Given the description of an element on the screen output the (x, y) to click on. 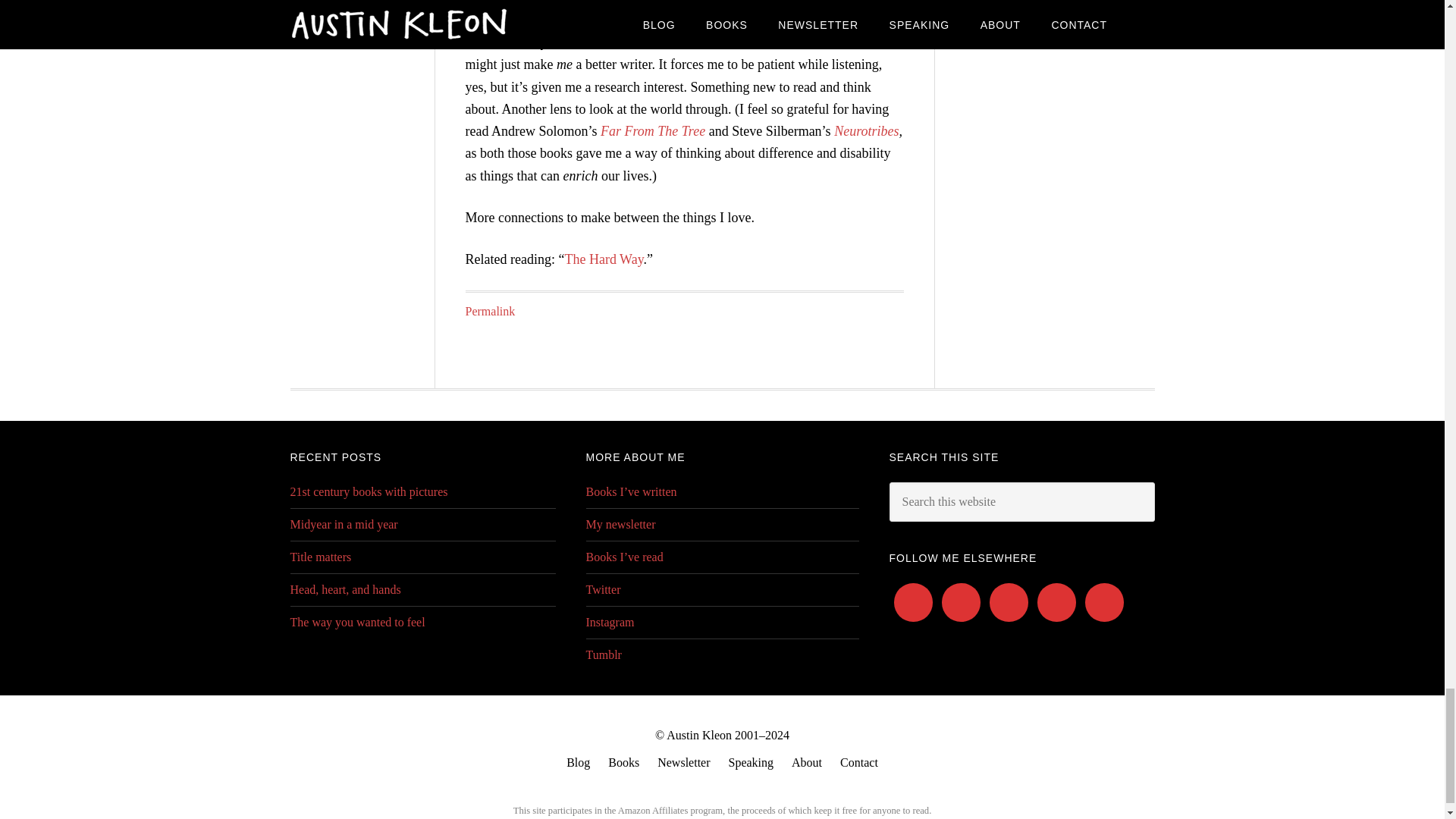
Neurotribes (866, 130)
Permalink (490, 310)
The Hard Way (603, 258)
Read my books (623, 762)
Far From The Tree (651, 130)
